Given the description of an element on the screen output the (x, y) to click on. 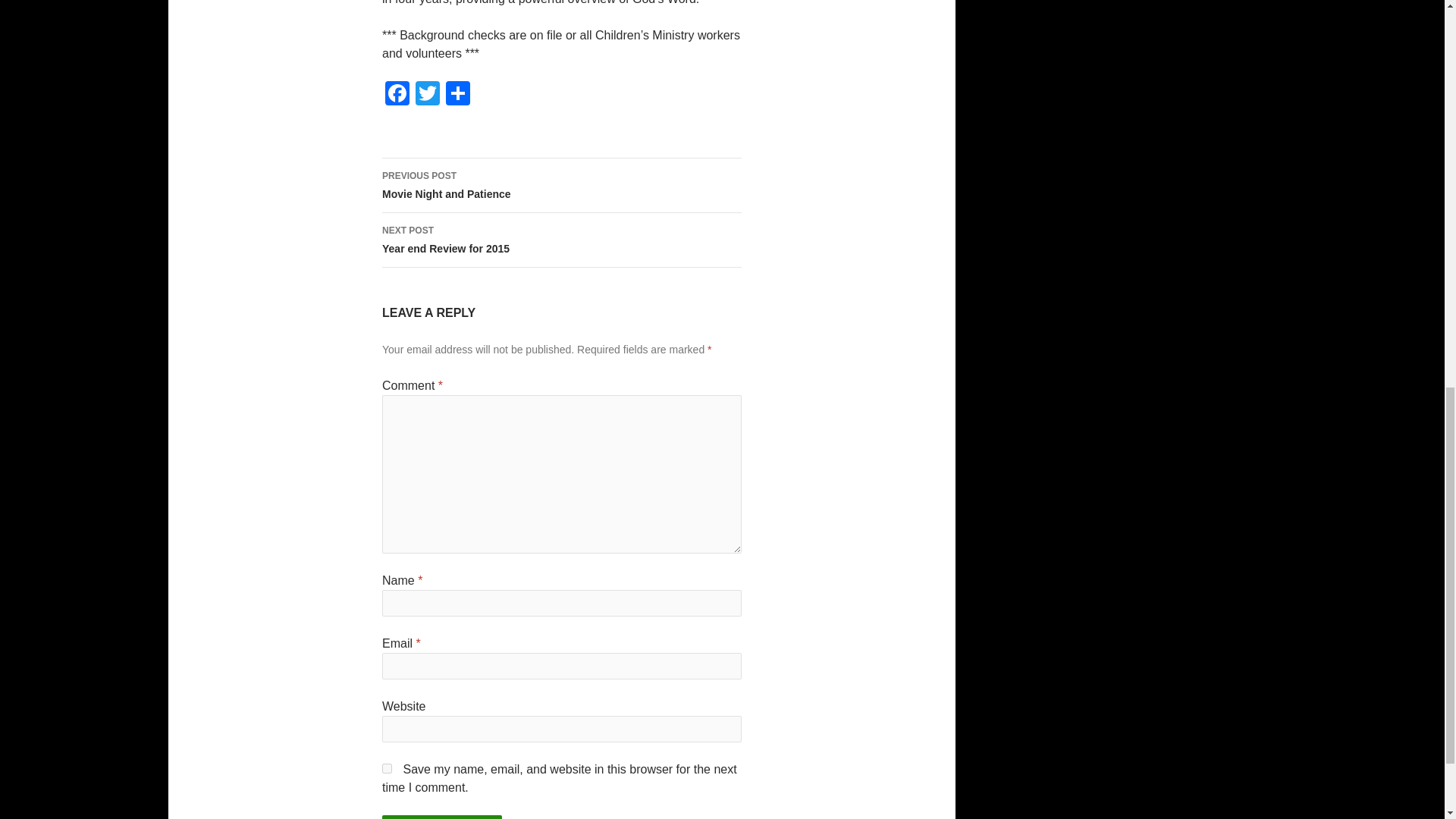
Post Comment (441, 816)
Facebook (396, 94)
Twitter (427, 94)
Post Comment (561, 185)
Twitter (441, 816)
Facebook (427, 94)
yes (561, 239)
